Given the description of an element on the screen output the (x, y) to click on. 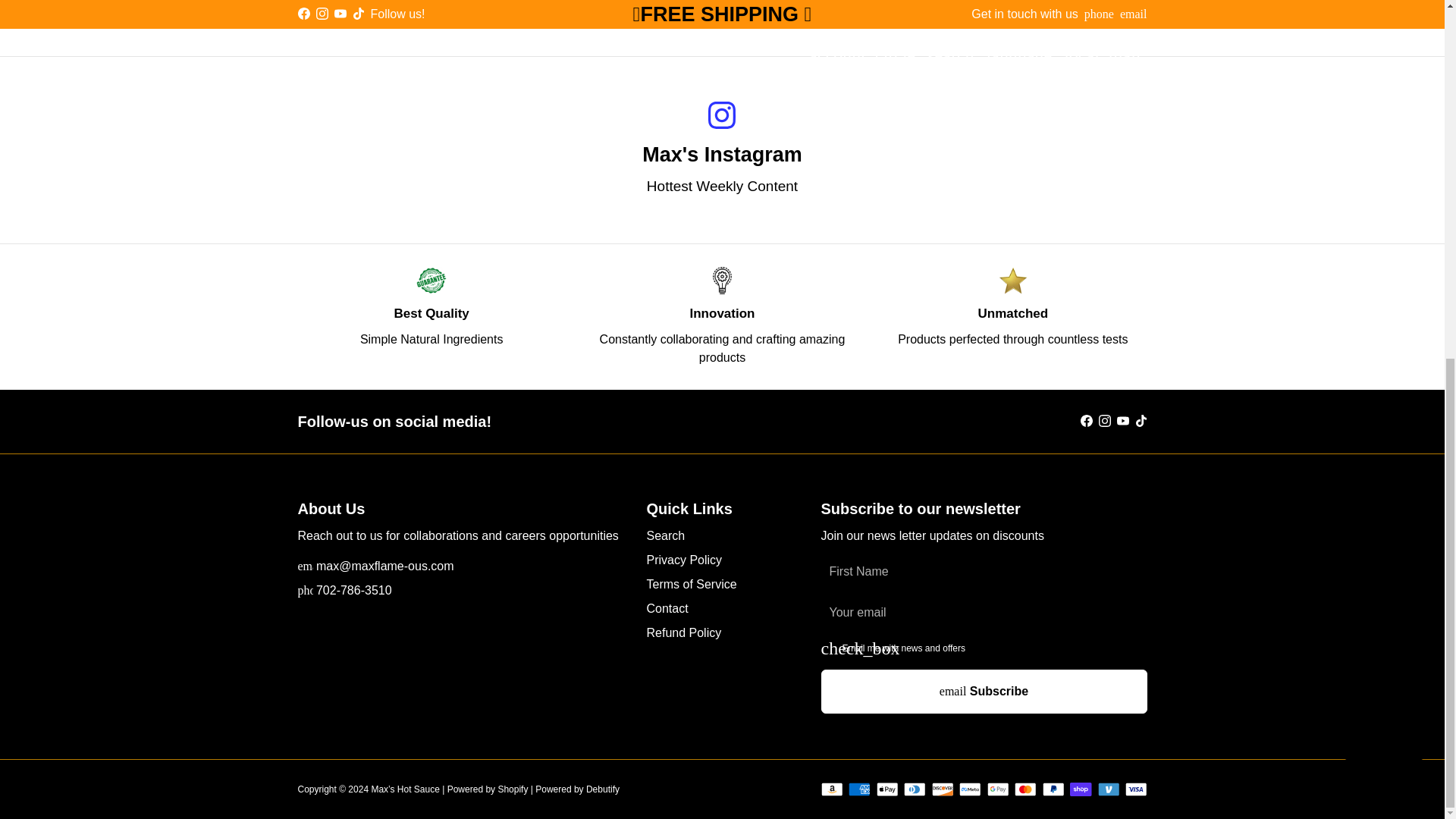
American Express (859, 789)
Apple Pay (887, 789)
Meta Pay (970, 789)
Discover (941, 789)
Diners Club (915, 789)
Amazon (831, 789)
